Given the description of an element on the screen output the (x, y) to click on. 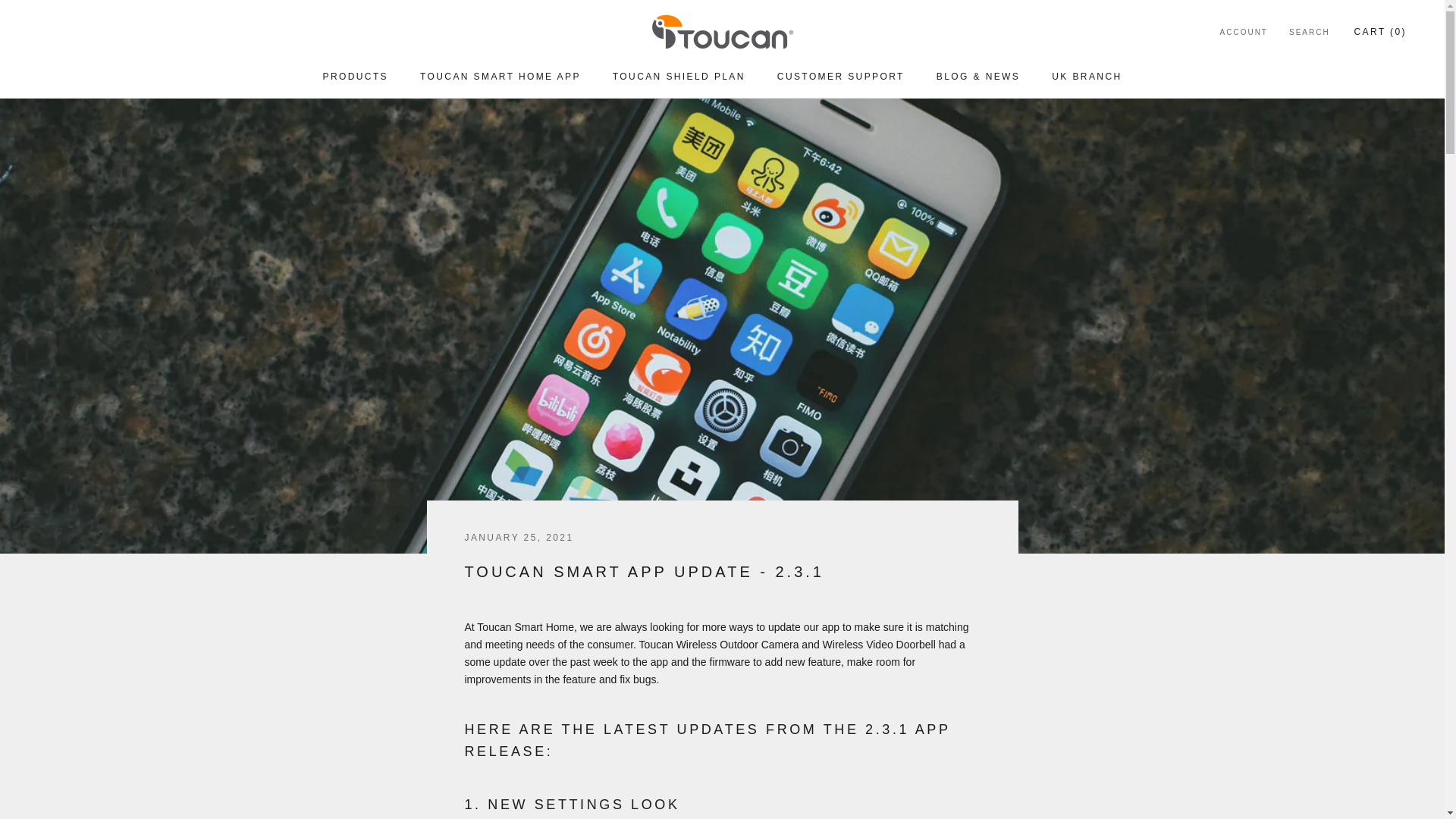
CUSTOMER SUPPORT (500, 76)
